Given the description of an element on the screen output the (x, y) to click on. 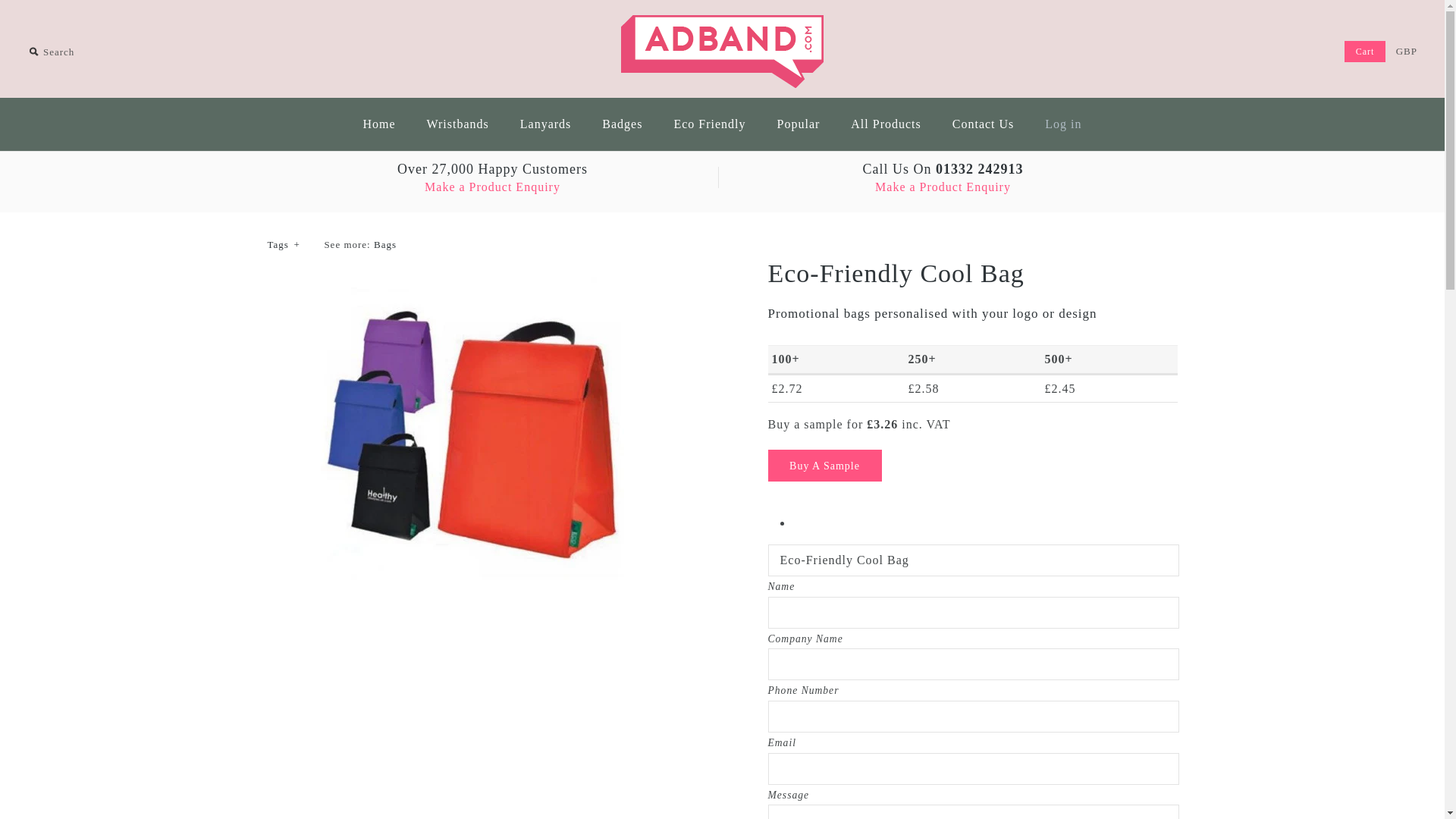
Over 27,000 Happy Customers (491, 169)
Wristbands (457, 124)
Buy A Sample (823, 465)
All Products (885, 124)
Popular (798, 124)
Lanyards (545, 124)
Buy A Sample (823, 465)
Eco Friendly (708, 124)
Make a Product Enquiry (942, 186)
Home (379, 124)
